Given the description of an element on the screen output the (x, y) to click on. 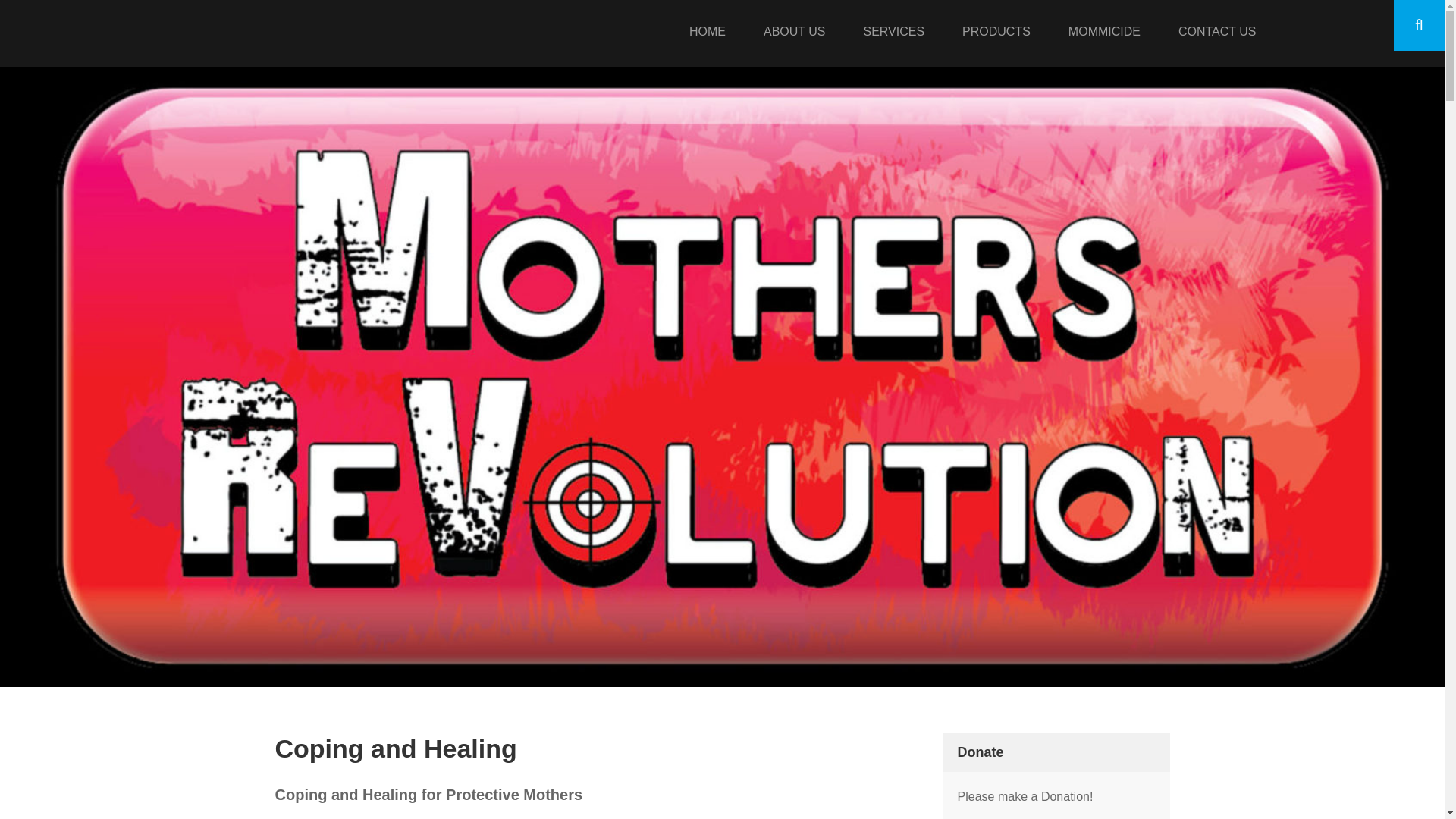
MOTHERS REVOLUTION (170, 37)
SERVICES (893, 33)
PRODUCTS (996, 33)
MOMMICIDE (1104, 33)
ABOUT US (794, 33)
CONTACT US (1217, 33)
